Given the description of an element on the screen output the (x, y) to click on. 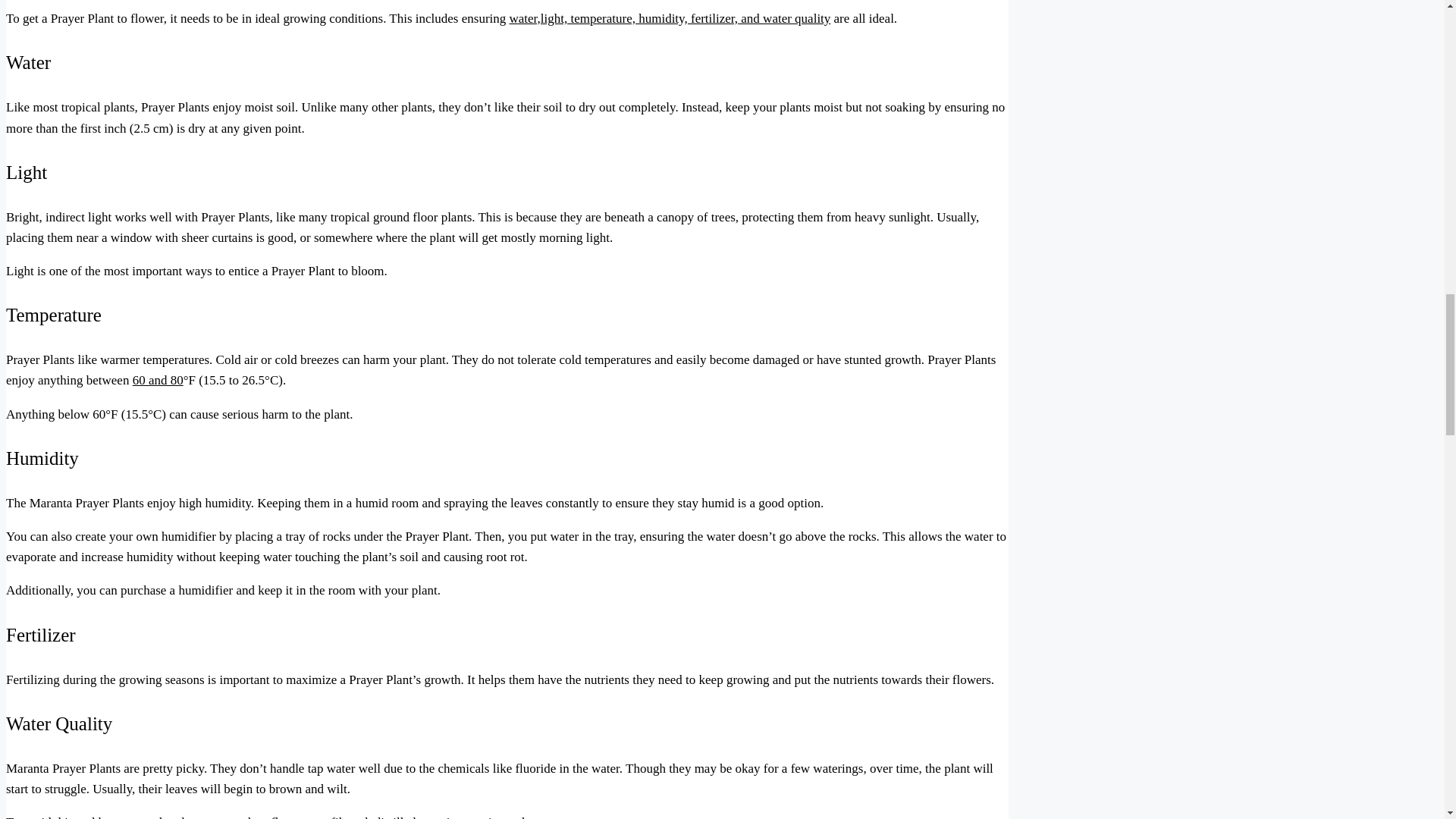
60 and 80 (157, 380)
